Given the description of an element on the screen output the (x, y) to click on. 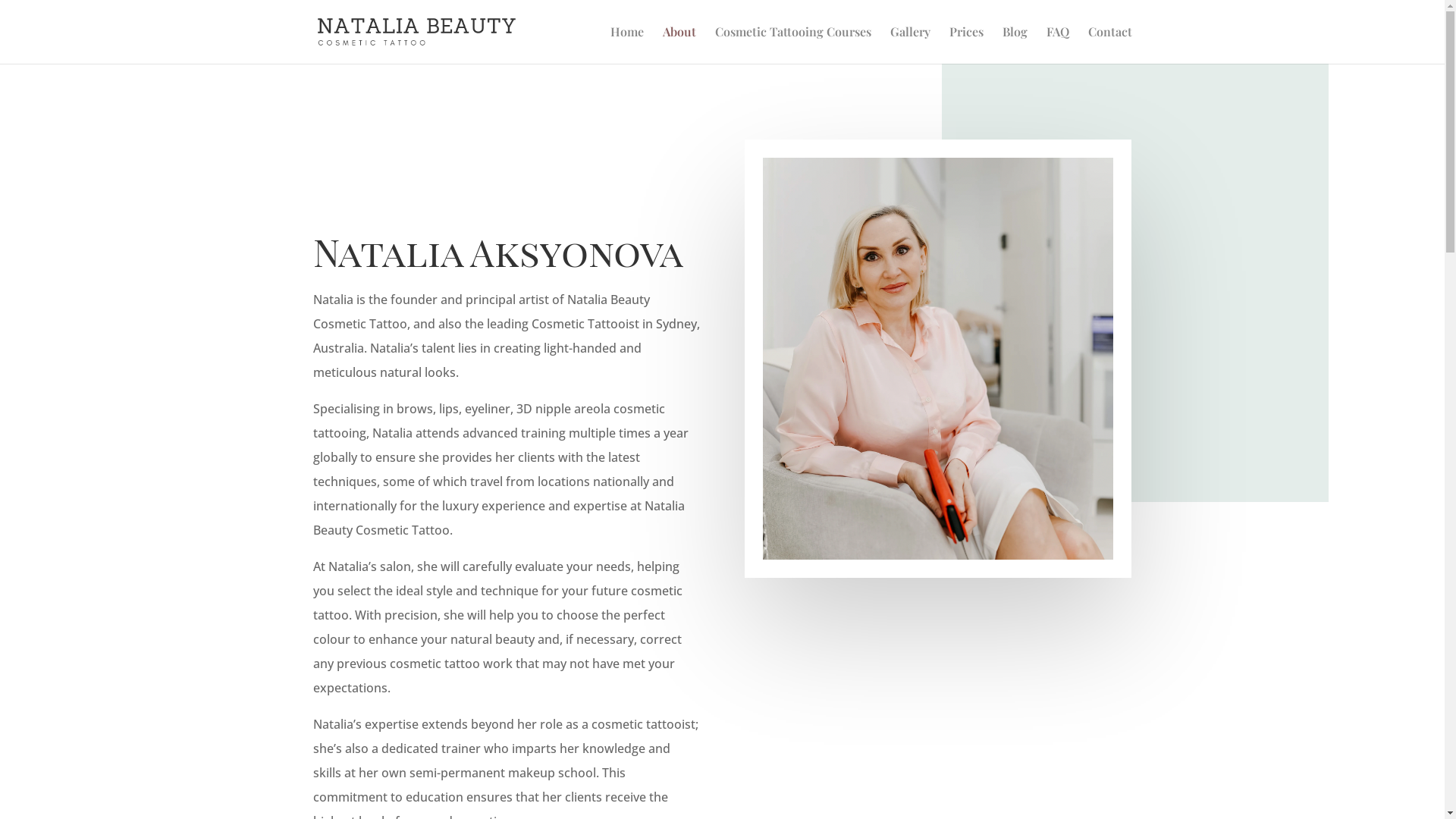
FAQ Element type: text (1057, 44)
Gallery Element type: text (910, 44)
Home Element type: text (626, 44)
Blog Element type: text (1014, 44)
Contact Element type: text (1109, 44)
nataliaa Element type: hover (937, 358)
Prices Element type: text (966, 44)
Cosmetic Tattooing Courses Element type: text (792, 44)
About Element type: text (679, 44)
